Given the description of an element on the screen output the (x, y) to click on. 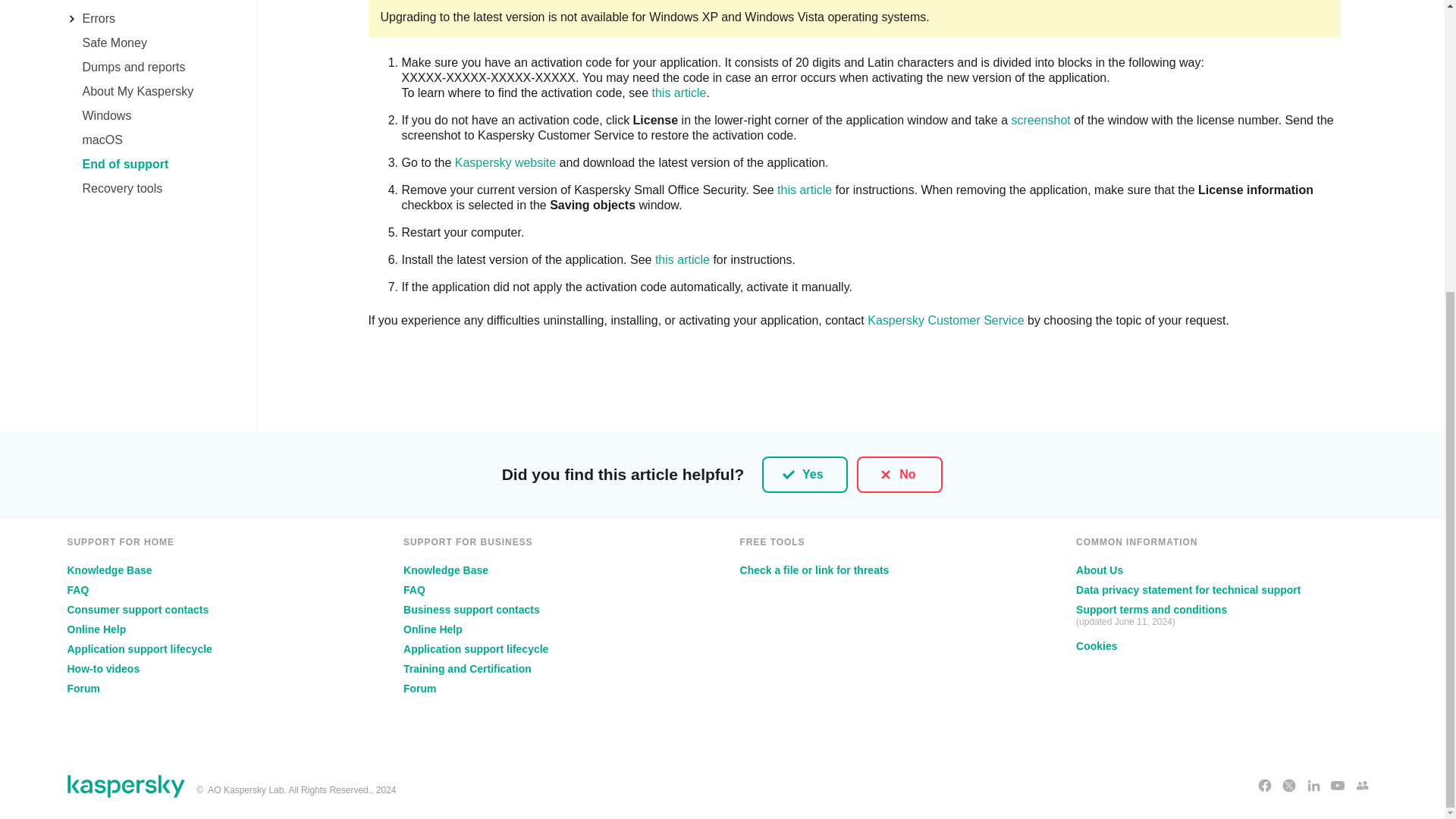
LinkedIn (1313, 786)
X (1288, 786)
Youtube (1336, 786)
Forum (1361, 786)
Kaspersky Facebook (1264, 786)
